Given the description of an element on the screen output the (x, y) to click on. 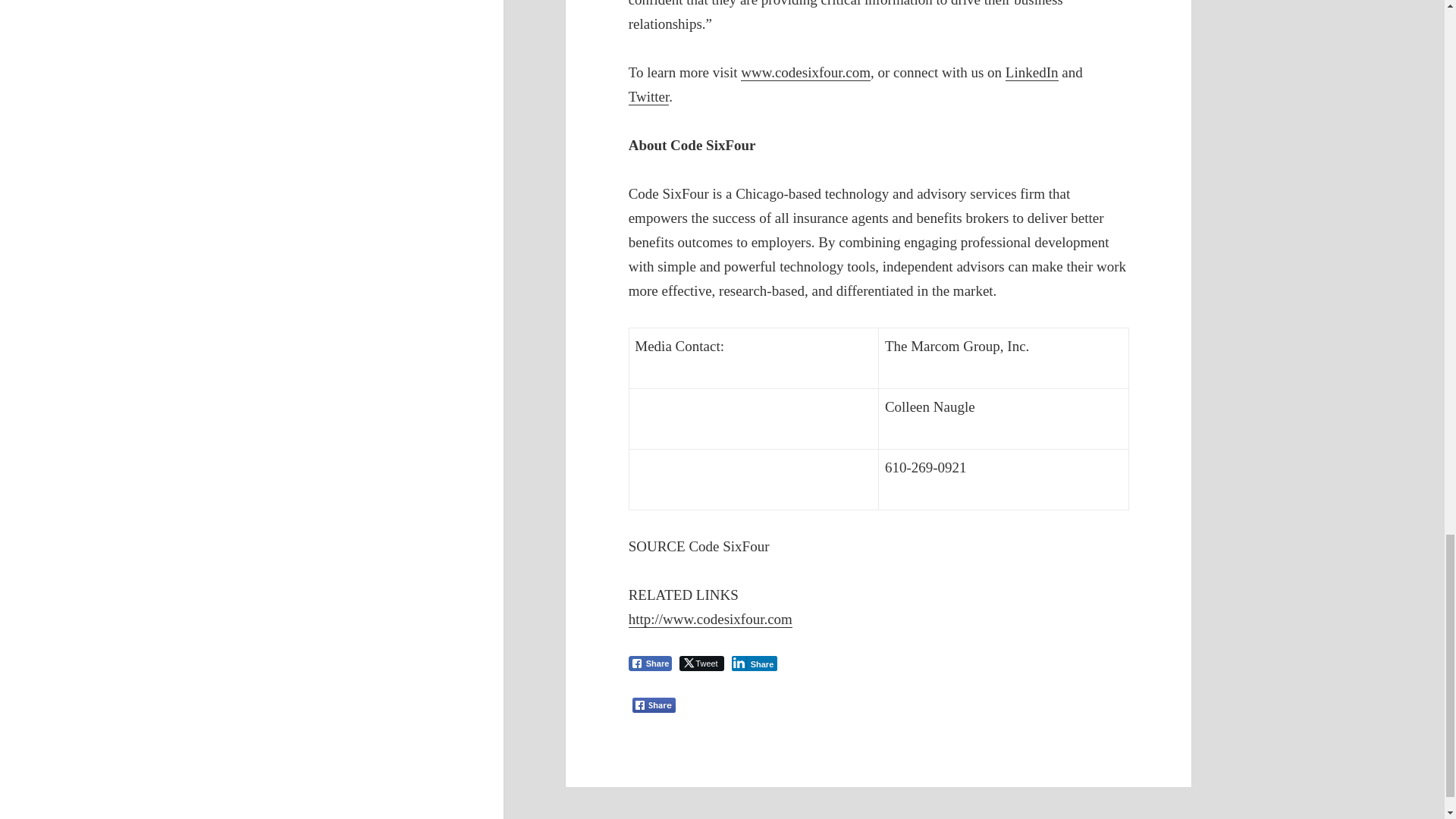
LinkedIn (1032, 72)
www.codesixfour.com (805, 72)
Twitter (648, 96)
Tweet (701, 663)
Share (754, 663)
Share (650, 663)
